Given the description of an element on the screen output the (x, y) to click on. 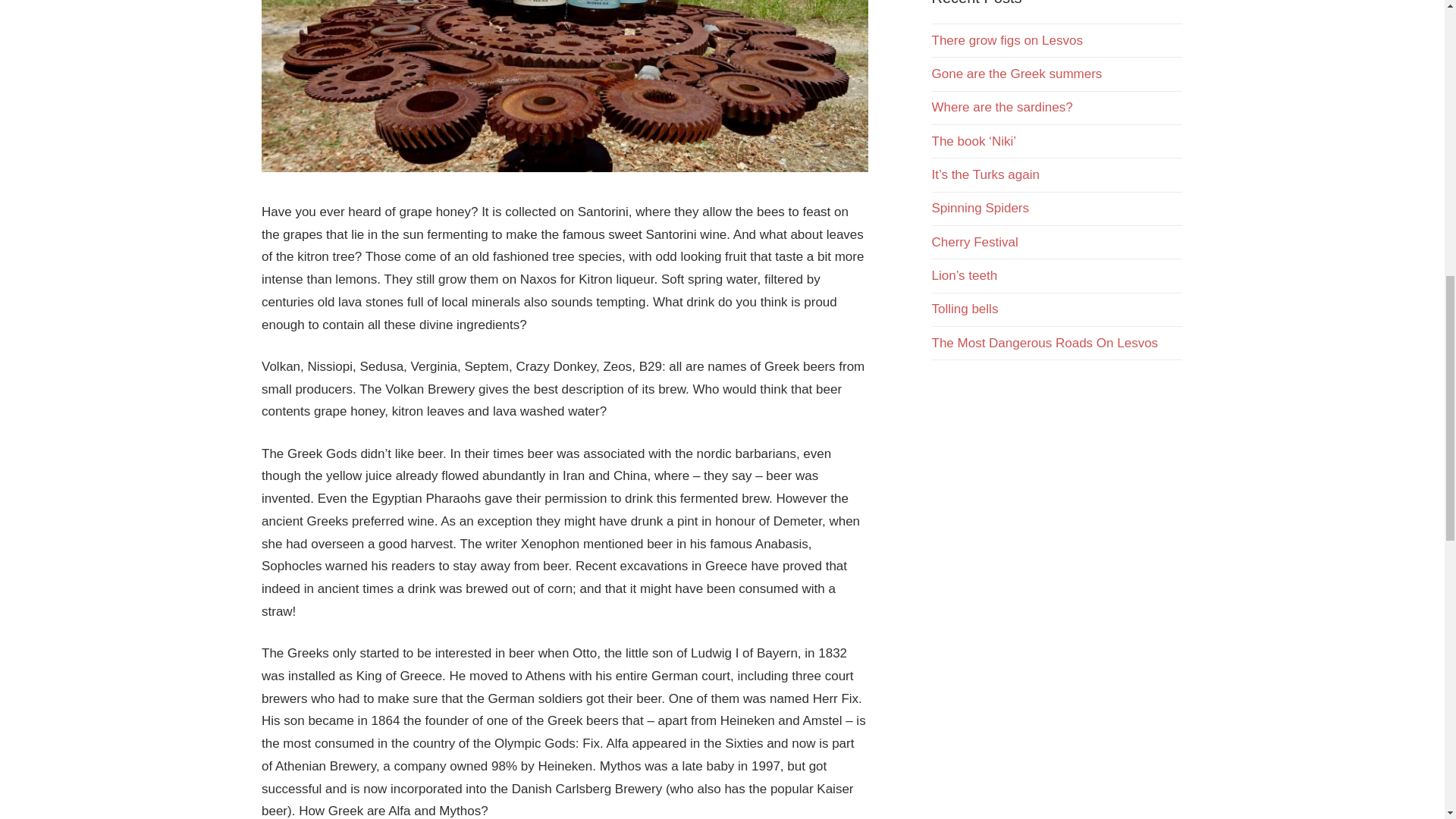
Tolling bells (964, 309)
Cherry Festival (974, 242)
There grow figs on Lesvos (1006, 40)
Where are the sardines? (1001, 106)
The Most Dangerous Roads On Lesvos (1044, 342)
Gone are the Greek summers (1016, 73)
Spinning Spiders (980, 207)
